Given the description of an element on the screen output the (x, y) to click on. 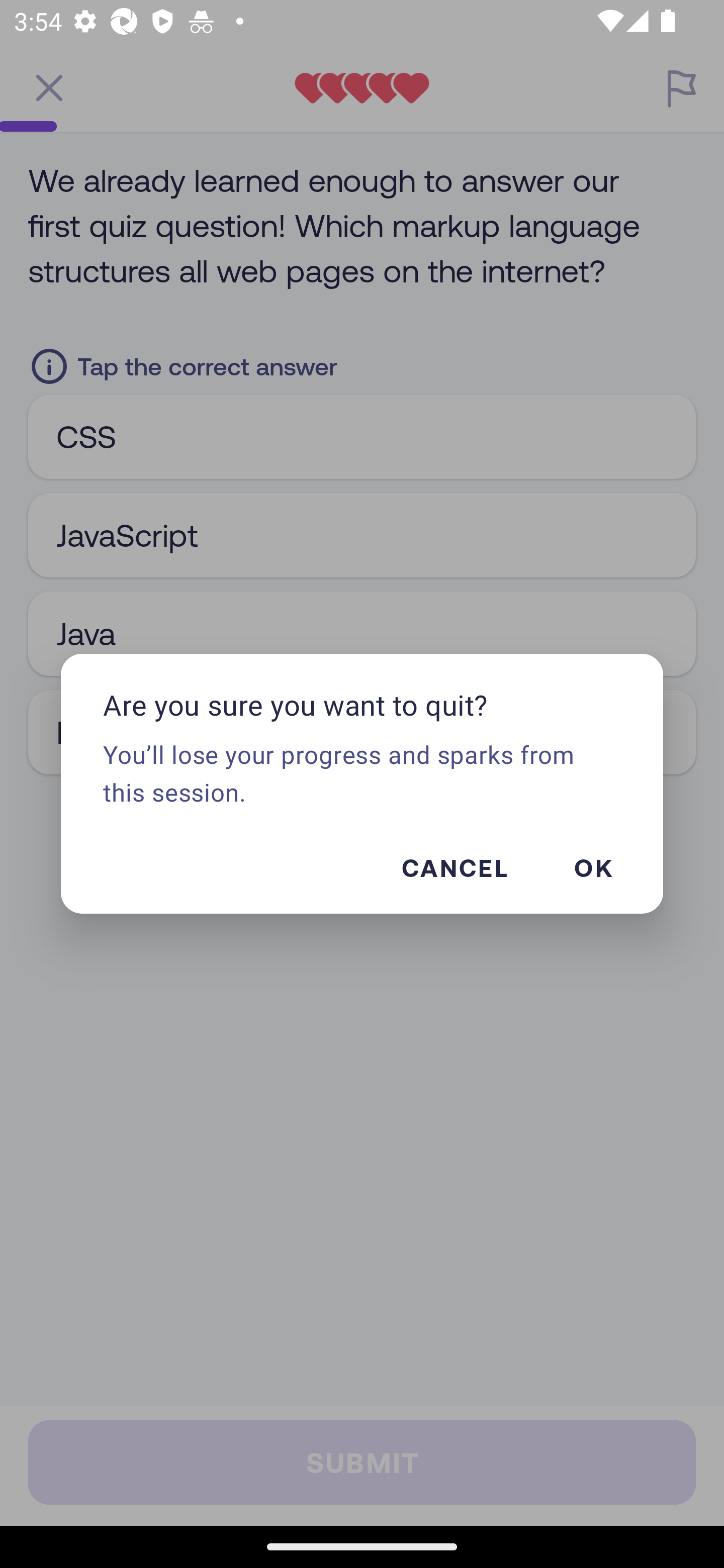
CANCEL (453, 867)
OK (592, 867)
